Given the description of an element on the screen output the (x, y) to click on. 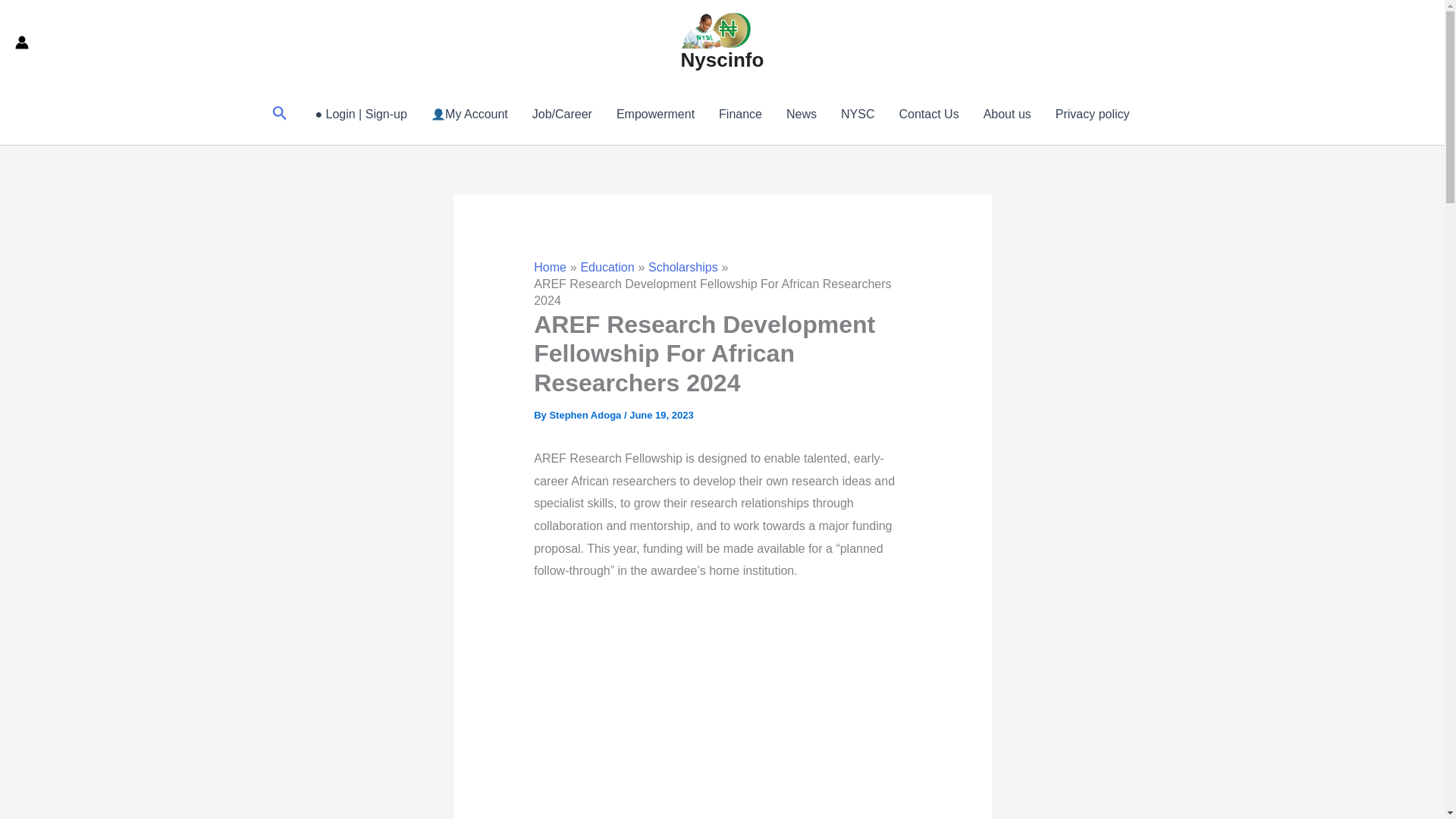
Advertisement (772, 707)
Stephen Adoga (585, 414)
Nyscinfo (722, 59)
Finance (740, 114)
Scholarships (682, 267)
Privacy policy (1092, 114)
My Account (469, 114)
Home (550, 267)
Education (606, 267)
View all posts by Stephen Adoga (585, 414)
